Given the description of an element on the screen output the (x, y) to click on. 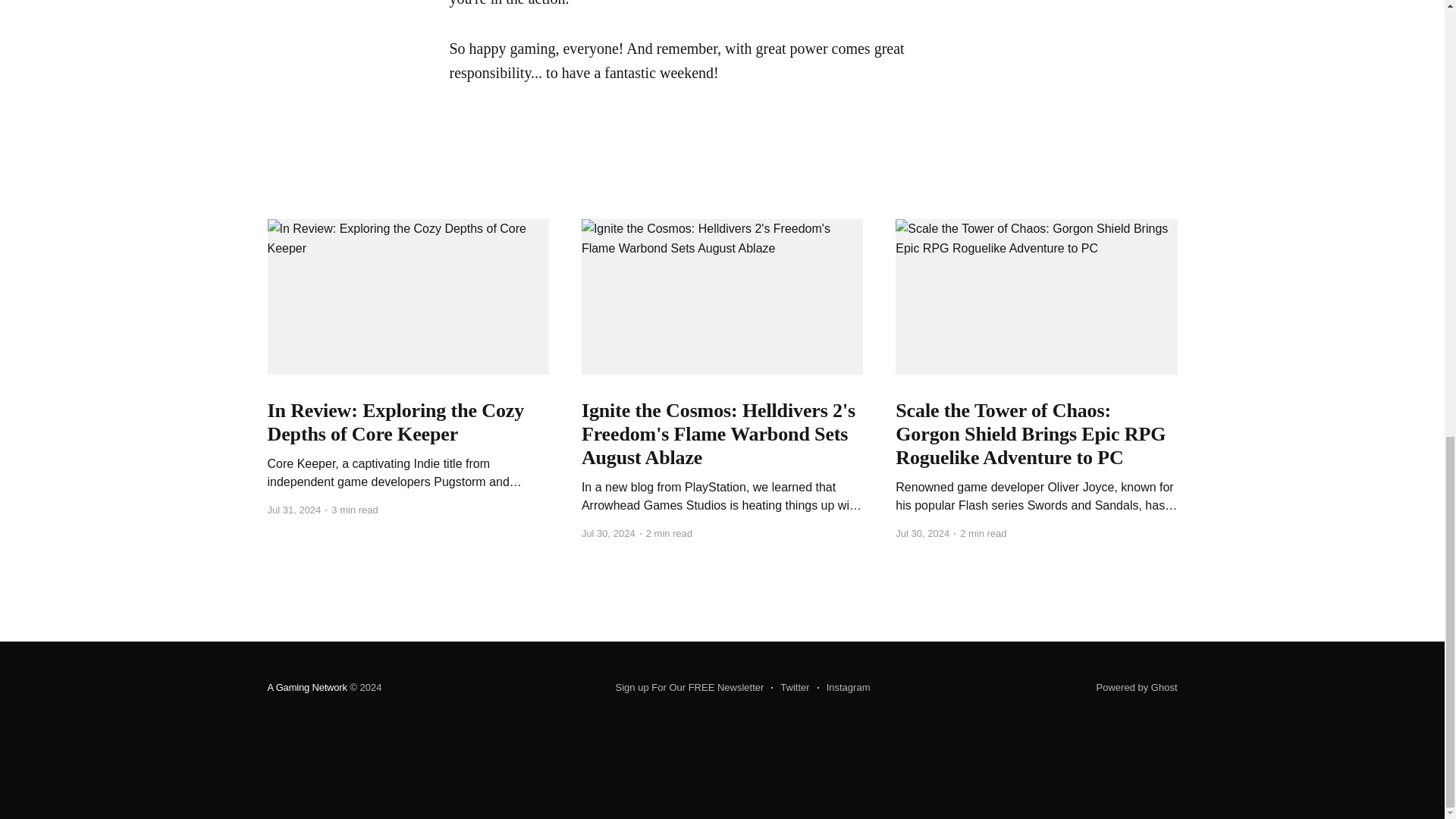
Powered by Ghost (1136, 686)
Instagram (843, 687)
A Gaming Network (306, 686)
Twitter (790, 687)
Sign up For Our FREE Newsletter (689, 687)
